Given the description of an element on the screen output the (x, y) to click on. 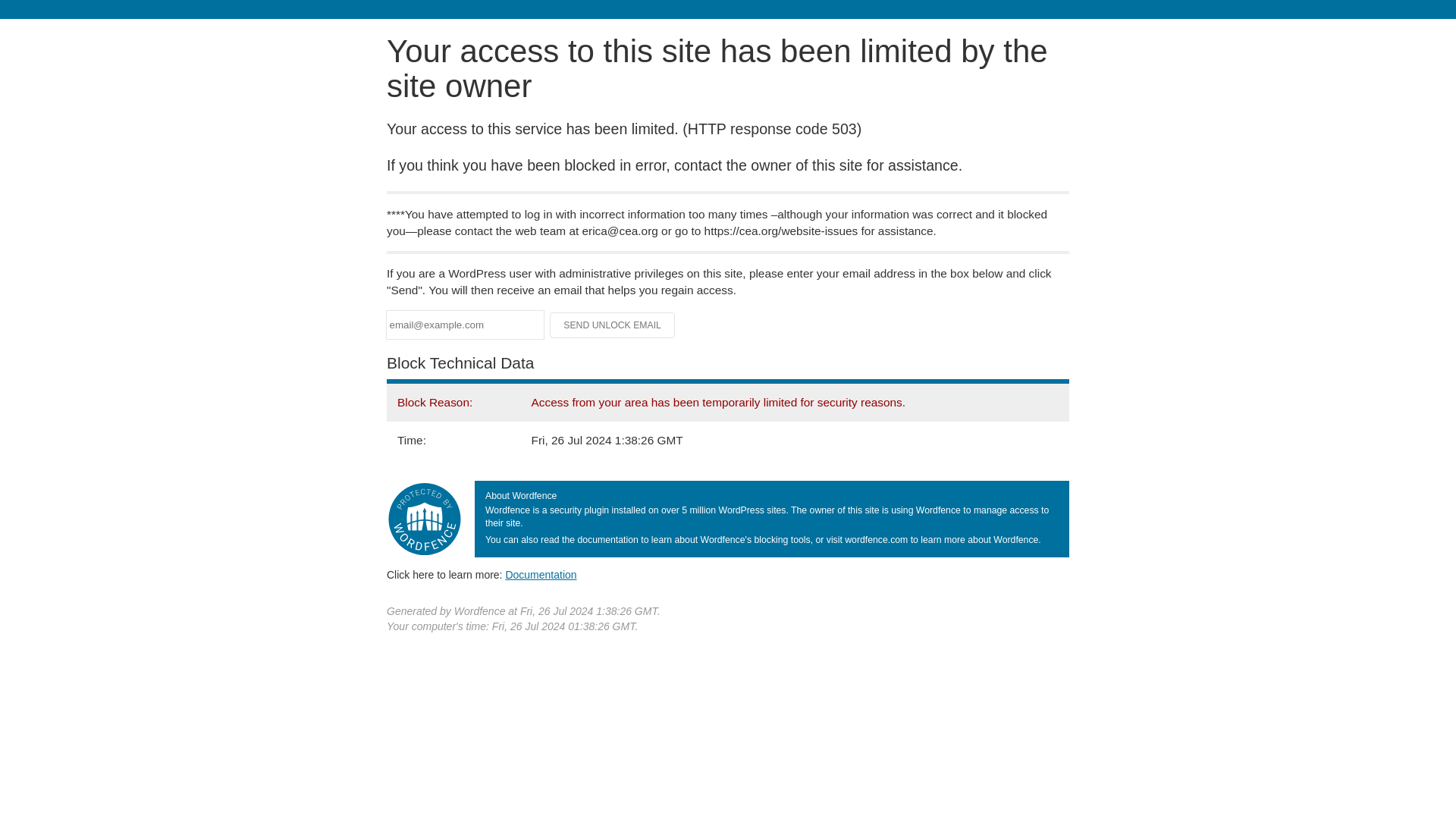
Documentation (540, 574)
Send Unlock Email (612, 325)
Send Unlock Email (612, 325)
